Given the description of an element on the screen output the (x, y) to click on. 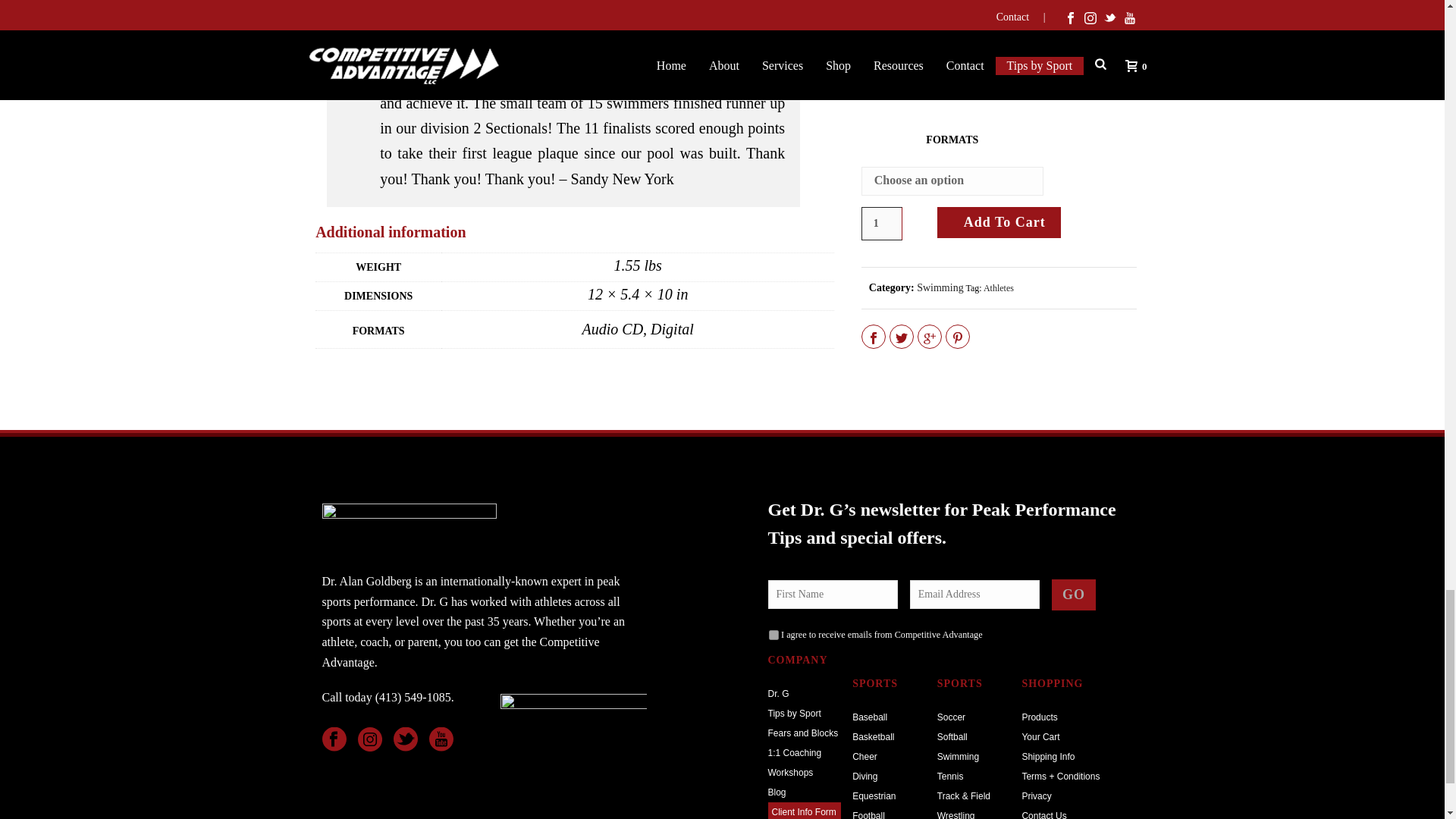
I agree to receive emails from Competitive Advantage (773, 634)
GO (1073, 594)
